Given the description of an element on the screen output the (x, y) to click on. 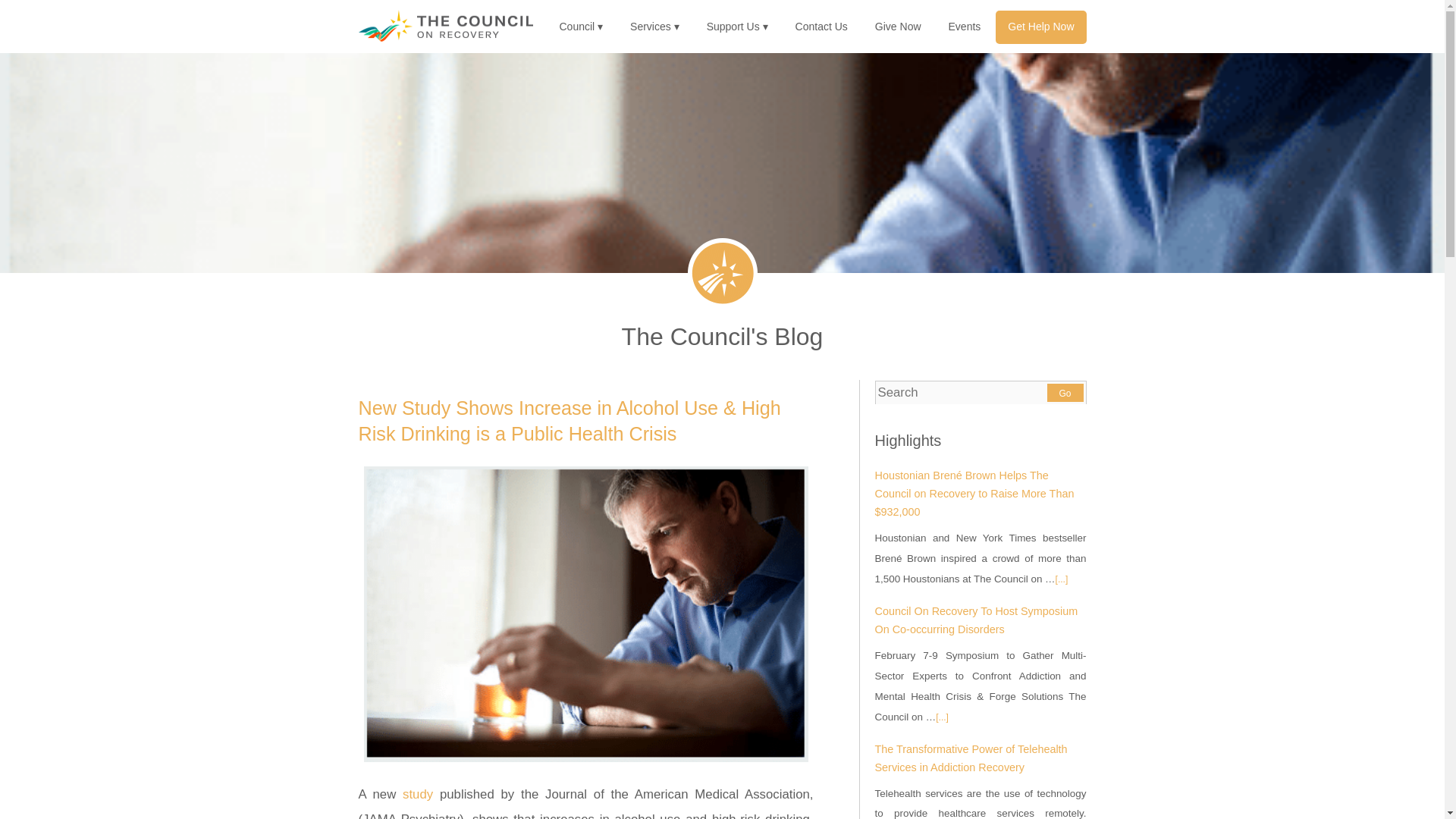
Services (654, 27)
Council (580, 27)
Go (1064, 393)
Support Us (737, 27)
Go (1064, 393)
